Given the description of an element on the screen output the (x, y) to click on. 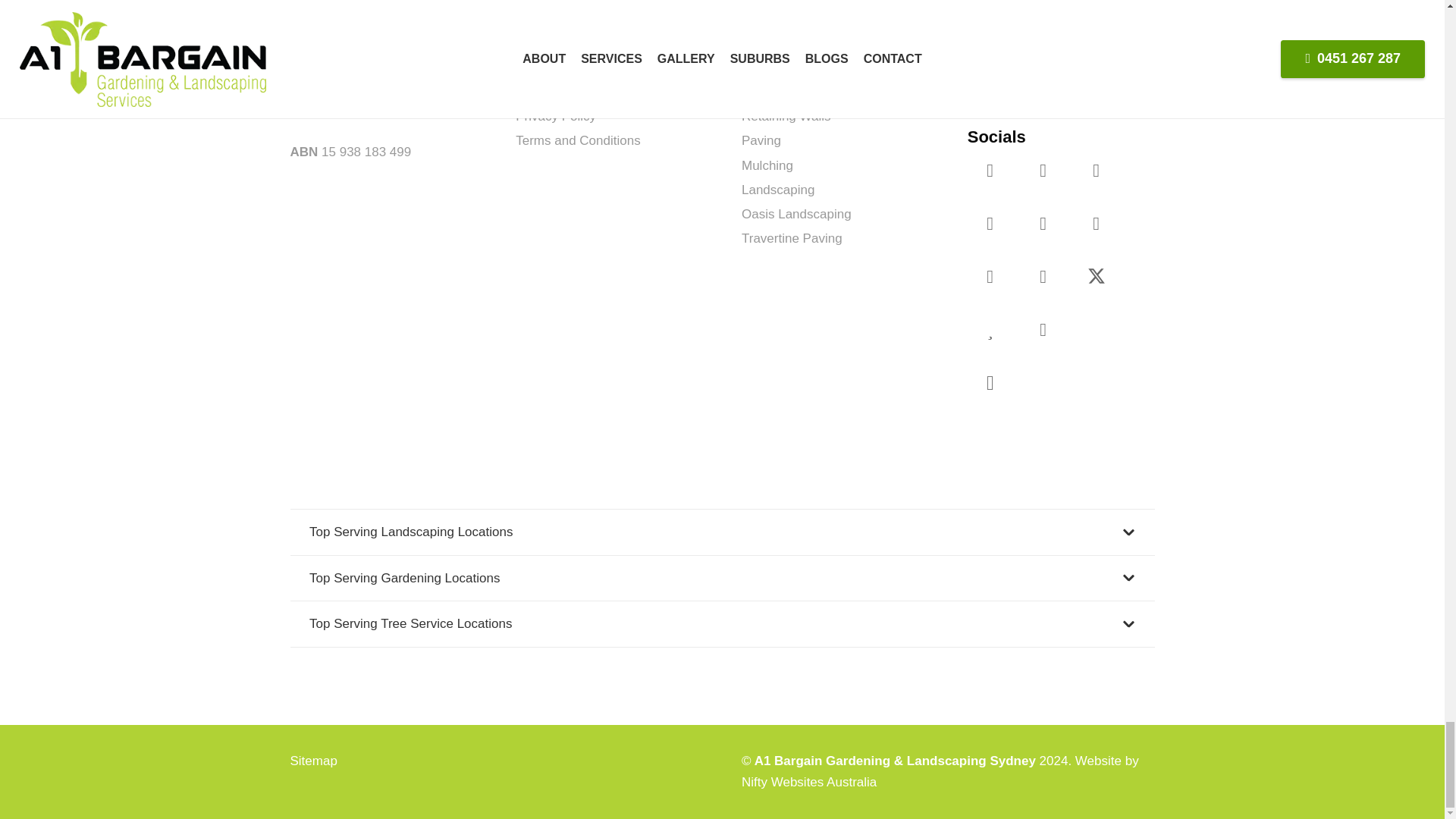
Google (1096, 170)
Facebook (990, 170)
Flickr (990, 223)
YouTube (1042, 170)
